Given the description of an element on the screen output the (x, y) to click on. 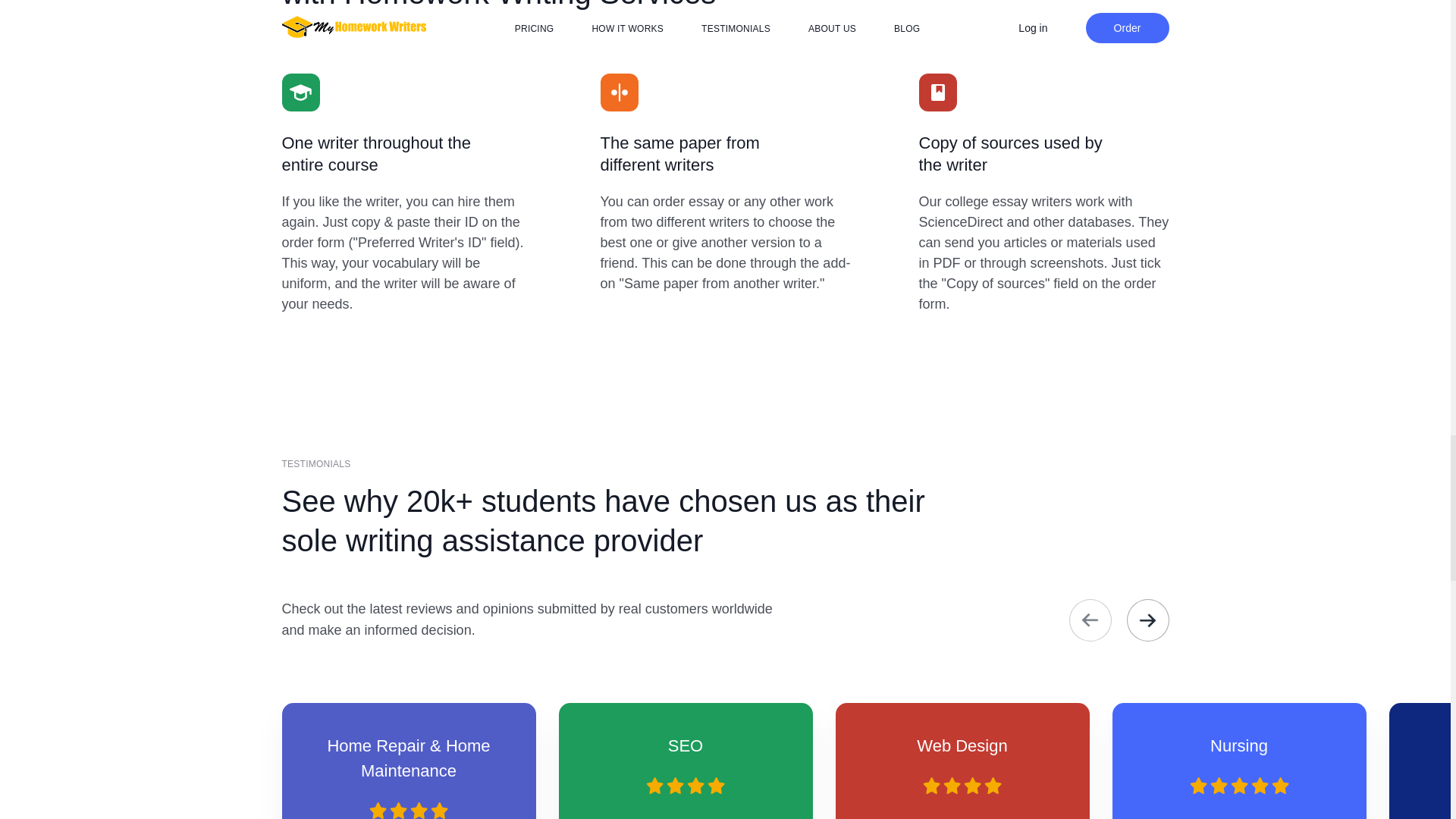
Next (1147, 619)
Previous (1090, 619)
